Given the description of an element on the screen output the (x, y) to click on. 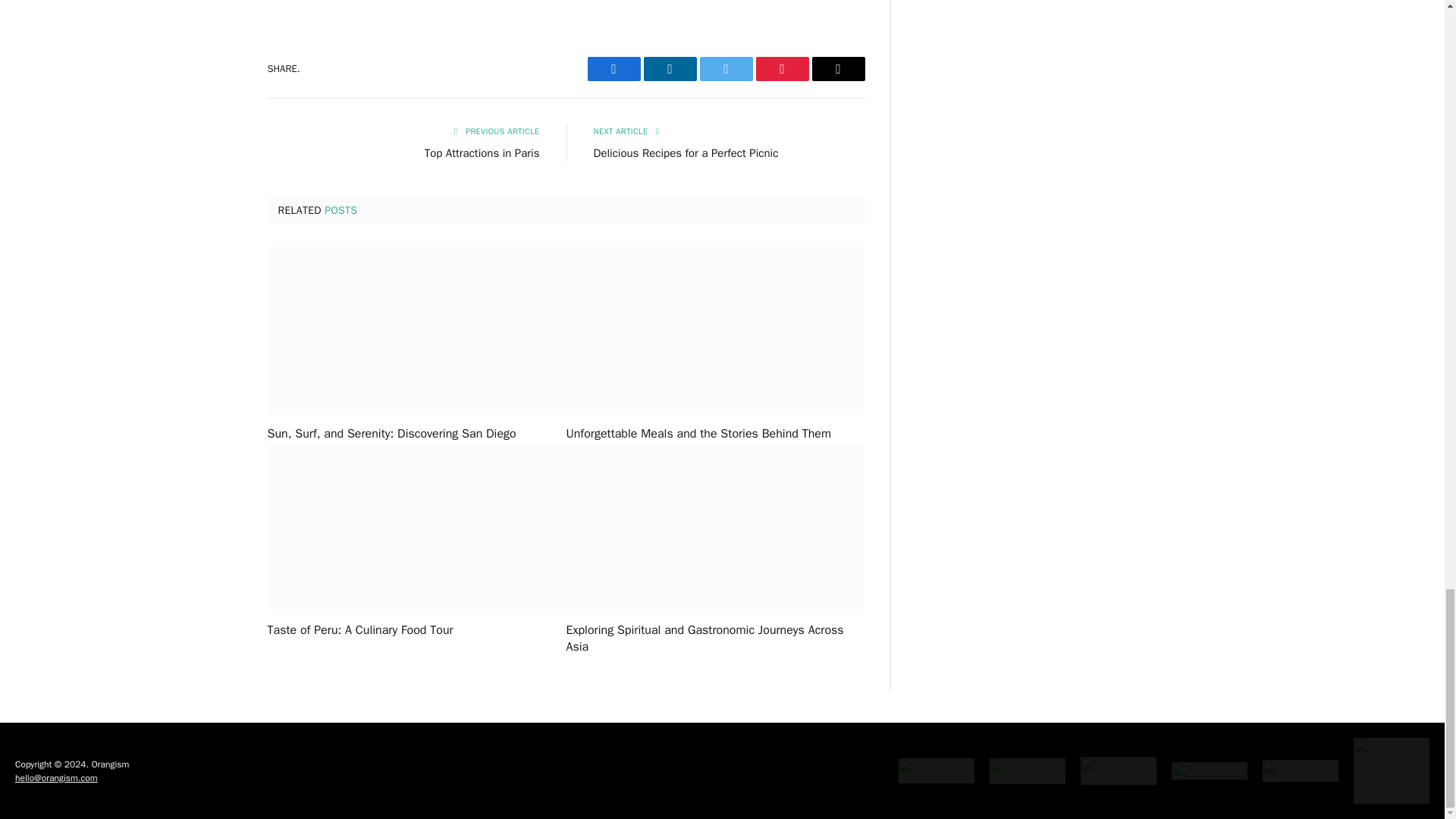
Pinterest (781, 68)
Share on LinkedIn (669, 68)
Sun, Surf, and Serenity: Discovering San Diego (416, 434)
Unforgettable Meals and the Stories Behind Them (715, 434)
Email (837, 68)
Exploring Spiritual and Gastronomic Journeys Across Asia (715, 639)
Twitter (725, 68)
Facebook (613, 68)
LinkedIn (669, 68)
Top Attractions in Paris (482, 152)
Share on Facebook (613, 68)
Delicious Recipes for a Perfect Picnic (684, 152)
Taste of Peru: A Culinary Food Tour (416, 630)
